Given the description of an element on the screen output the (x, y) to click on. 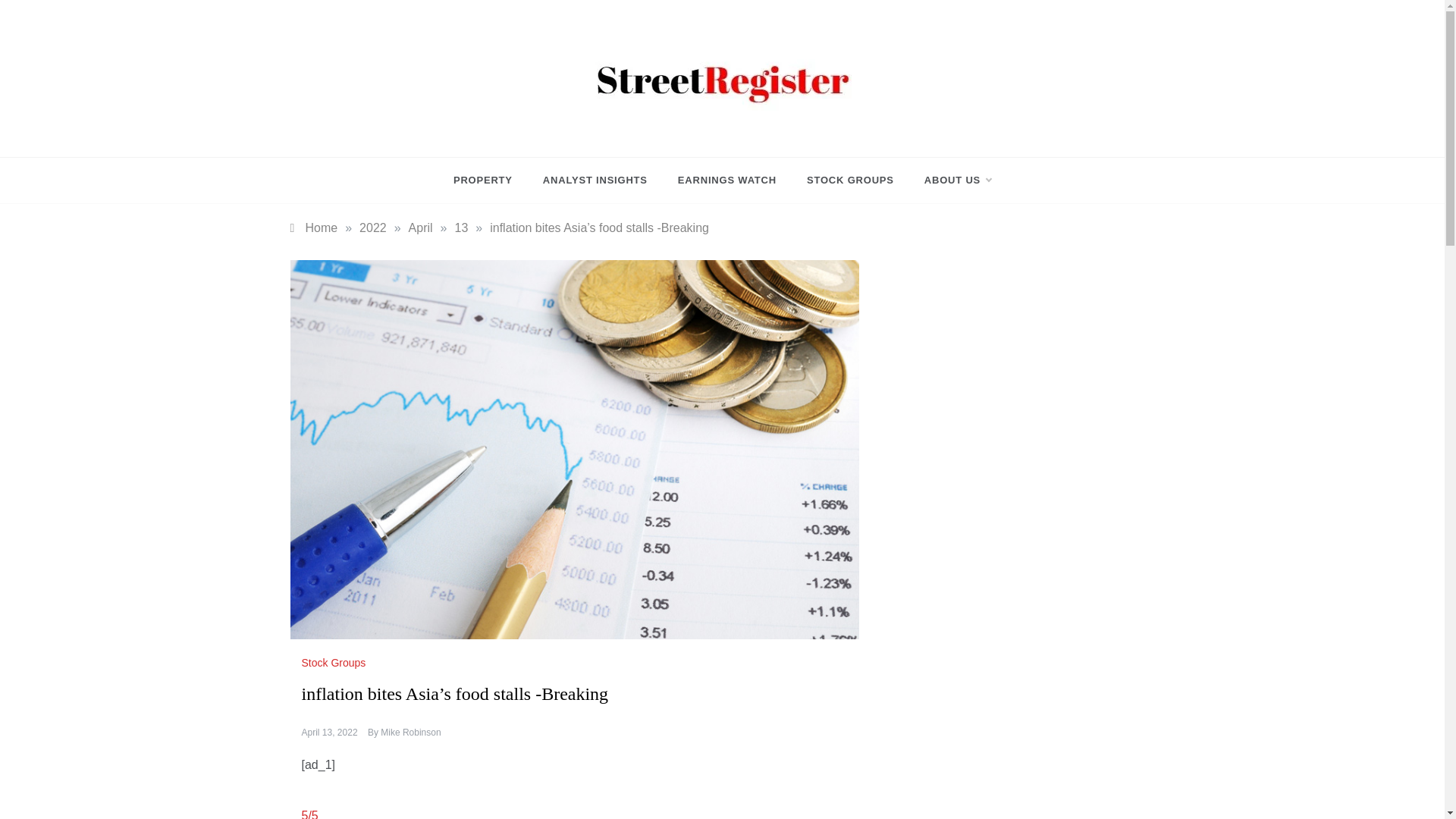
Stock Groups (335, 662)
2022 (373, 227)
13 (461, 227)
PROPERTY (489, 180)
EARNINGS WATCH (727, 180)
Mike Robinson (410, 732)
Home (313, 227)
STOCK GROUPS (850, 180)
April 13, 2022 (329, 732)
April (420, 227)
Street Register (635, 130)
ANALYST INSIGHTS (594, 180)
ABOUT US (949, 180)
